Given the description of an element on the screen output the (x, y) to click on. 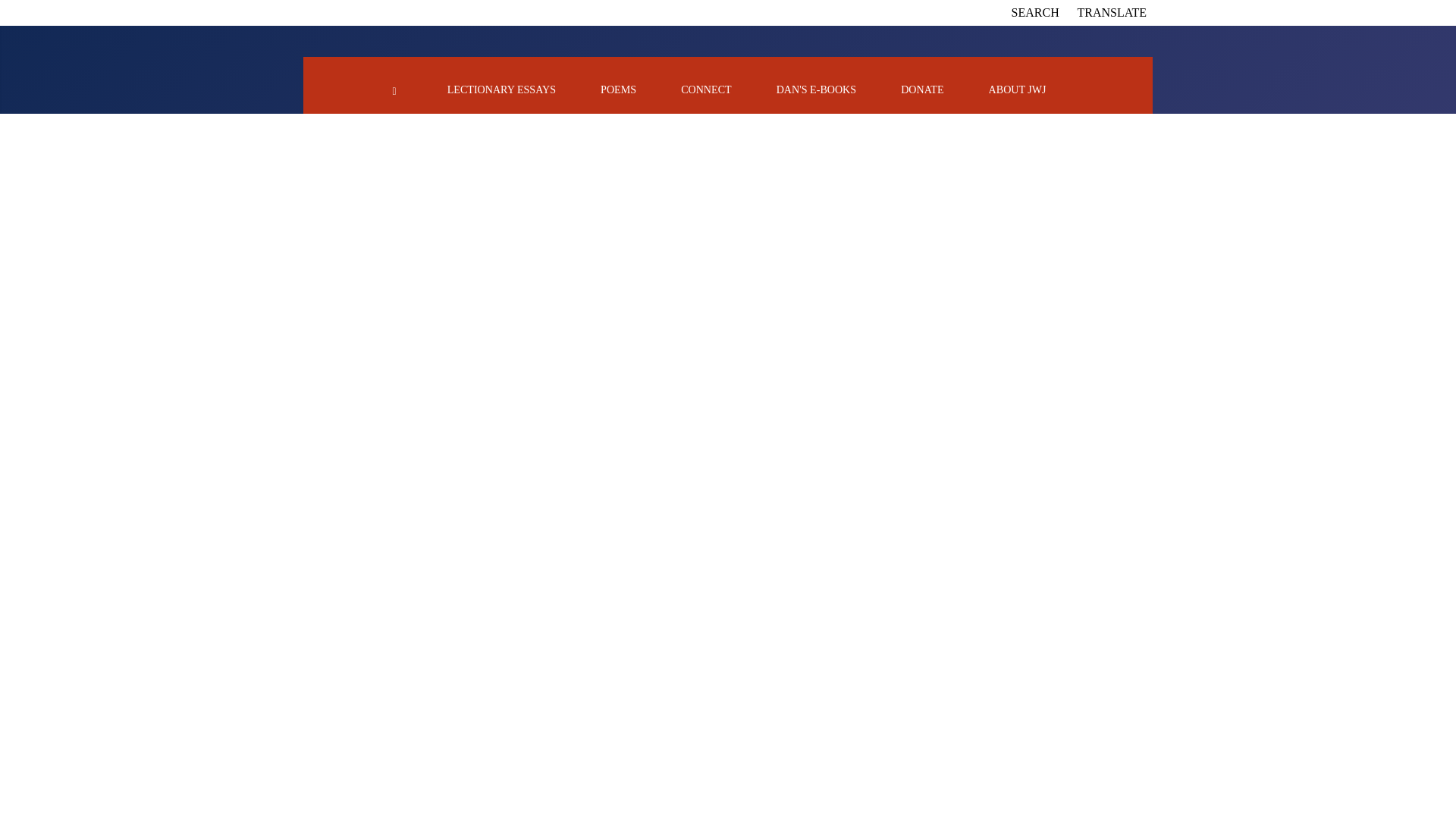
DAN'S E-BOOKS (816, 89)
CONNECT (705, 89)
TRANSLATE (1112, 11)
HOME (395, 89)
SEARCH (1035, 11)
POEMS (617, 89)
ABOUT JWJ (1017, 89)
DONATE (922, 89)
LECTIONARY ESSAYS (501, 89)
